Given the description of an element on the screen output the (x, y) to click on. 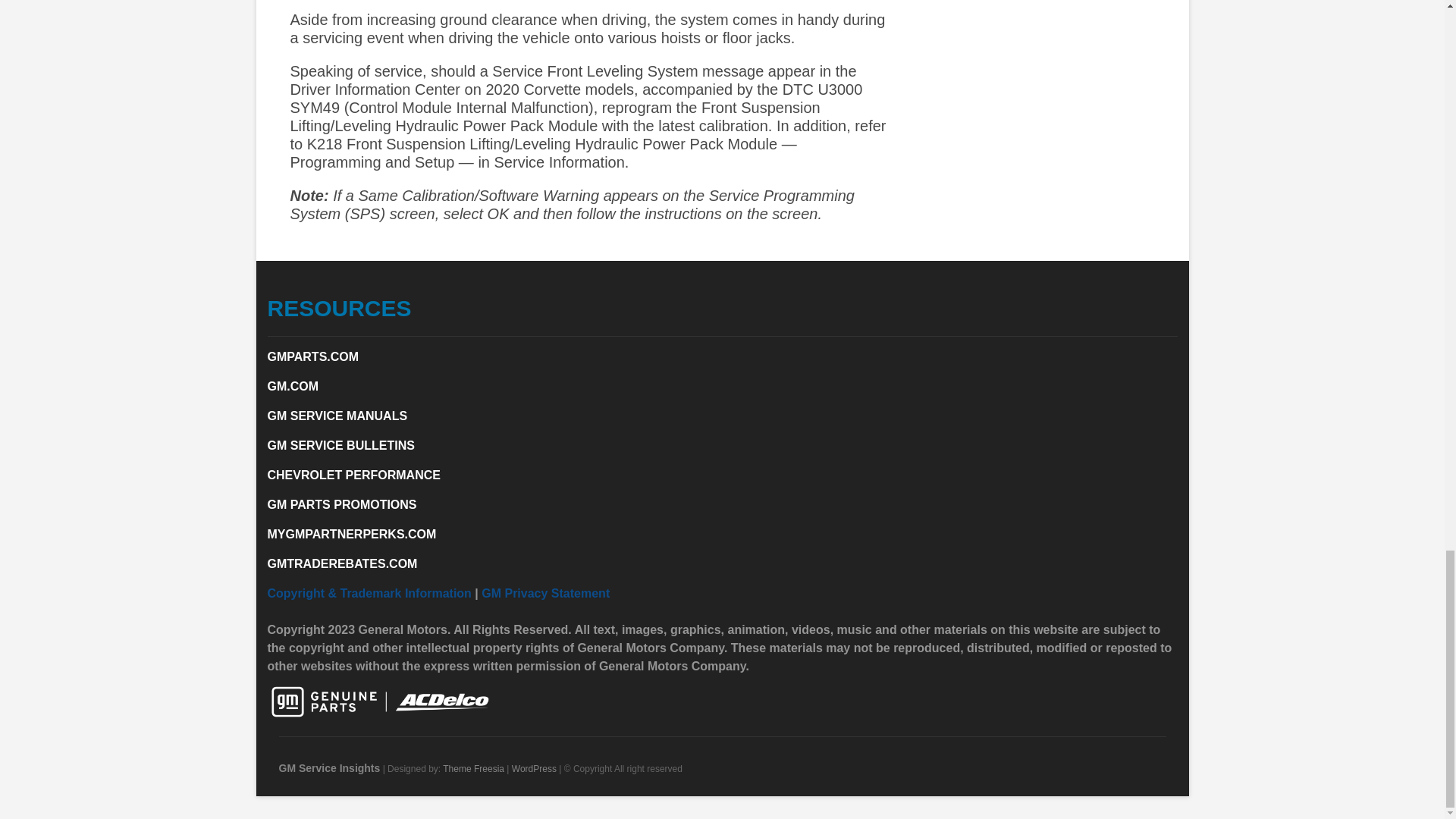
Theme Freesia (472, 768)
GM SERVICE MANUALS (336, 415)
WordPress (534, 768)
GM Privacy Statement (545, 593)
GM Service Insights (329, 767)
GM PARTS PROMOTIONS (341, 504)
GMPARTS.COM (312, 356)
CHEVROLET PERFORMANCE (352, 474)
GM SERVICE BULLETINS (339, 445)
GM Service Insights (329, 767)
Theme Freesia (472, 768)
GM.COM (292, 386)
WordPress (534, 768)
MYGMPARTNERPERKS.COM (350, 533)
GMTRADEREBATES.COM (341, 563)
